Given the description of an element on the screen output the (x, y) to click on. 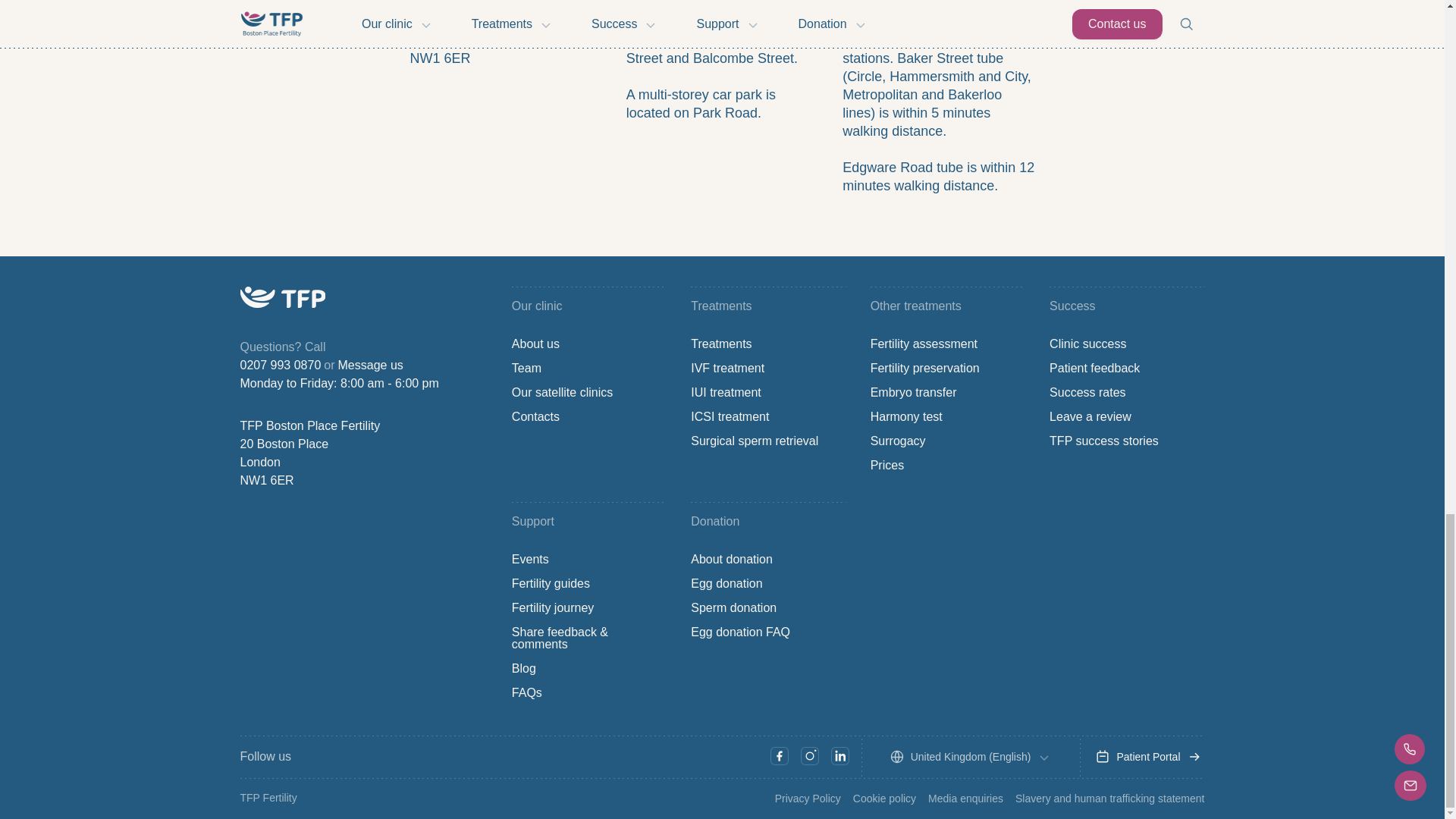
Patient feedback (1094, 368)
IVF treatment (727, 368)
About us (535, 344)
Harmony test (906, 417)
Message us (370, 365)
Surrogacy (898, 440)
Prices (887, 465)
Contacts (535, 417)
Team (526, 368)
0207 993 0870 (280, 365)
Treatments (720, 344)
ICSI treatment (729, 417)
Fertility assessment (923, 344)
IUI treatment (725, 392)
Fertility preservation (924, 368)
